Given the description of an element on the screen output the (x, y) to click on. 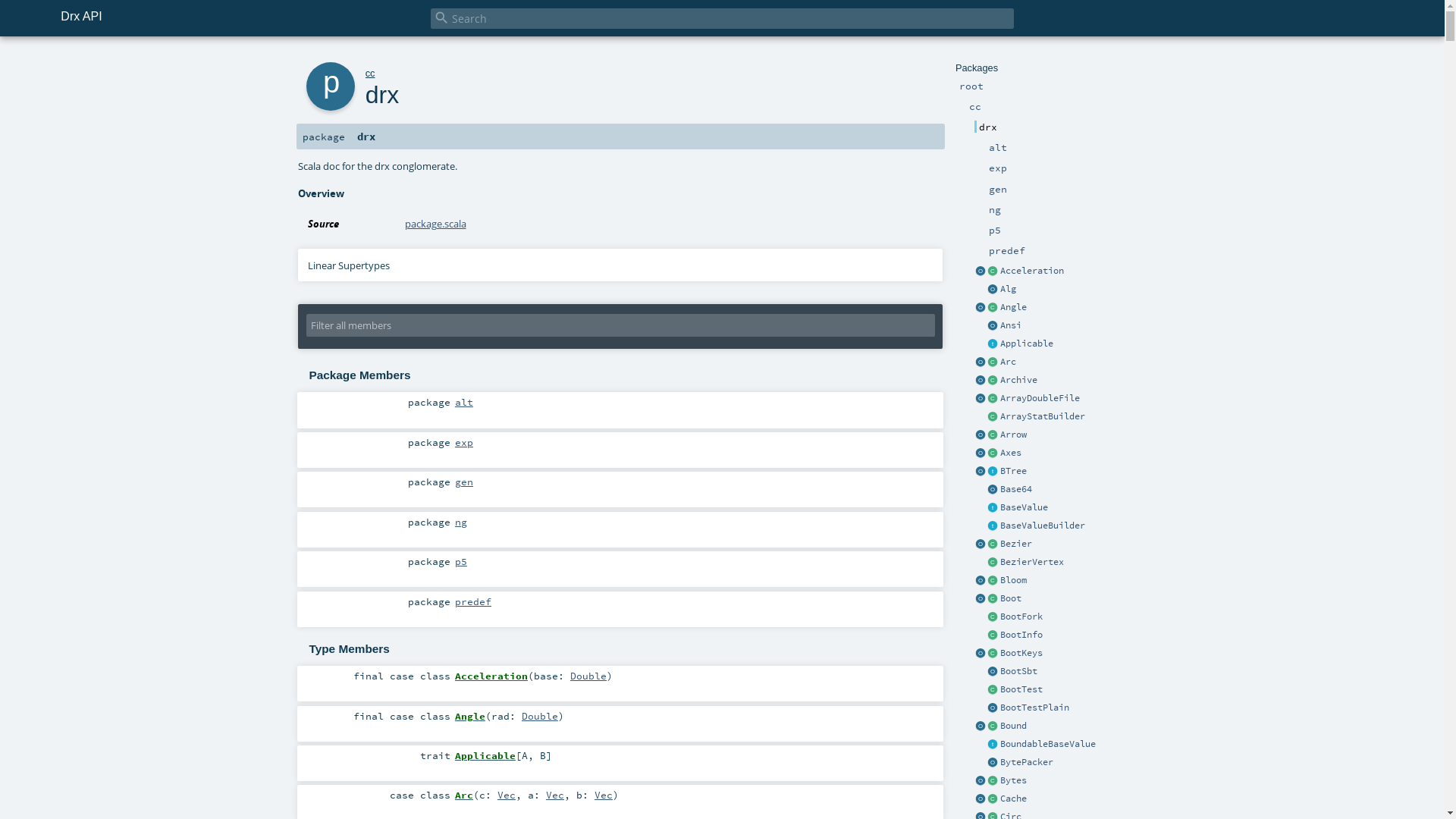
Bytes Element type: text (1012, 780)
Vec Element type: text (506, 794)
BootKeys Element type: text (1020, 652)
Cache Element type: text (1012, 798)
package.scala Element type: text (435, 223)
Angle Element type: text (1012, 306)
predef Element type: text (1006, 250)
BoundableBaseValue Element type: text (1047, 743)
Boot Element type: text (1009, 598)
BaseValue Element type: text (1023, 507)
a plain constructor for cache types Element type: hover (981, 799)
Archive Element type: text (1017, 379)
gen Element type: text (997, 188)
exp Element type: text (997, 167)
root Element type: text (971, 85)
primary base trait for all measurment unit types Element type: hover (993, 508)
Applicable Element type: text (485, 755)
p5 Element type: text (994, 229)
ArrayDoubleFile Element type: text (1039, 397)
alt Element type: text (997, 147)
ArrayStatBuilder Element type: text (1041, 416)
Angle Element type: text (470, 715)
BootTest Element type: text (1020, 689)
p5 Element type: text (461, 561)
BootInfo Element type: text (1020, 634)
Alg Element type: text (1007, 288)
Bound Element type: text (1012, 725)
BootTestPlain Element type: text (1033, 707)
Acceleration Element type: text (1031, 270)
BytePacker Element type: text (1025, 761)
Bezier Element type: text (1015, 543)
alt Element type: text (464, 401)
Acceleration Element type: text (491, 675)
predef Element type: text (473, 601)
Arrow Element type: text (1012, 434)
BaseValueBuilder Element type: text (1041, 525)
BezierVertex Element type: text (1031, 561)
BootSbt Element type: text (1017, 670)
Ansi Element type: text (1009, 325)
BootFork Element type: text (1020, 616)
Arc Element type: text (464, 794)
cc Element type: text (370, 72)
Vec Element type: text (555, 794)
exp Element type: text (464, 442)
Bloom Element type: text (1012, 579)
ng Element type: text (461, 521)
cc Element type: text (975, 106)
Double Element type: text (539, 715)
Double Element type: text (588, 675)
Arc Element type: text (1007, 361)
Base64 Element type: text (1015, 488)
Applicable Element type: text (1025, 343)
gen Element type: text (464, 481)
Vec Element type: text (603, 794)
Axes Element type: text (1009, 452)
ng Element type: text (994, 209)
BTree Element type: text (1012, 470)
